Given the description of an element on the screen output the (x, y) to click on. 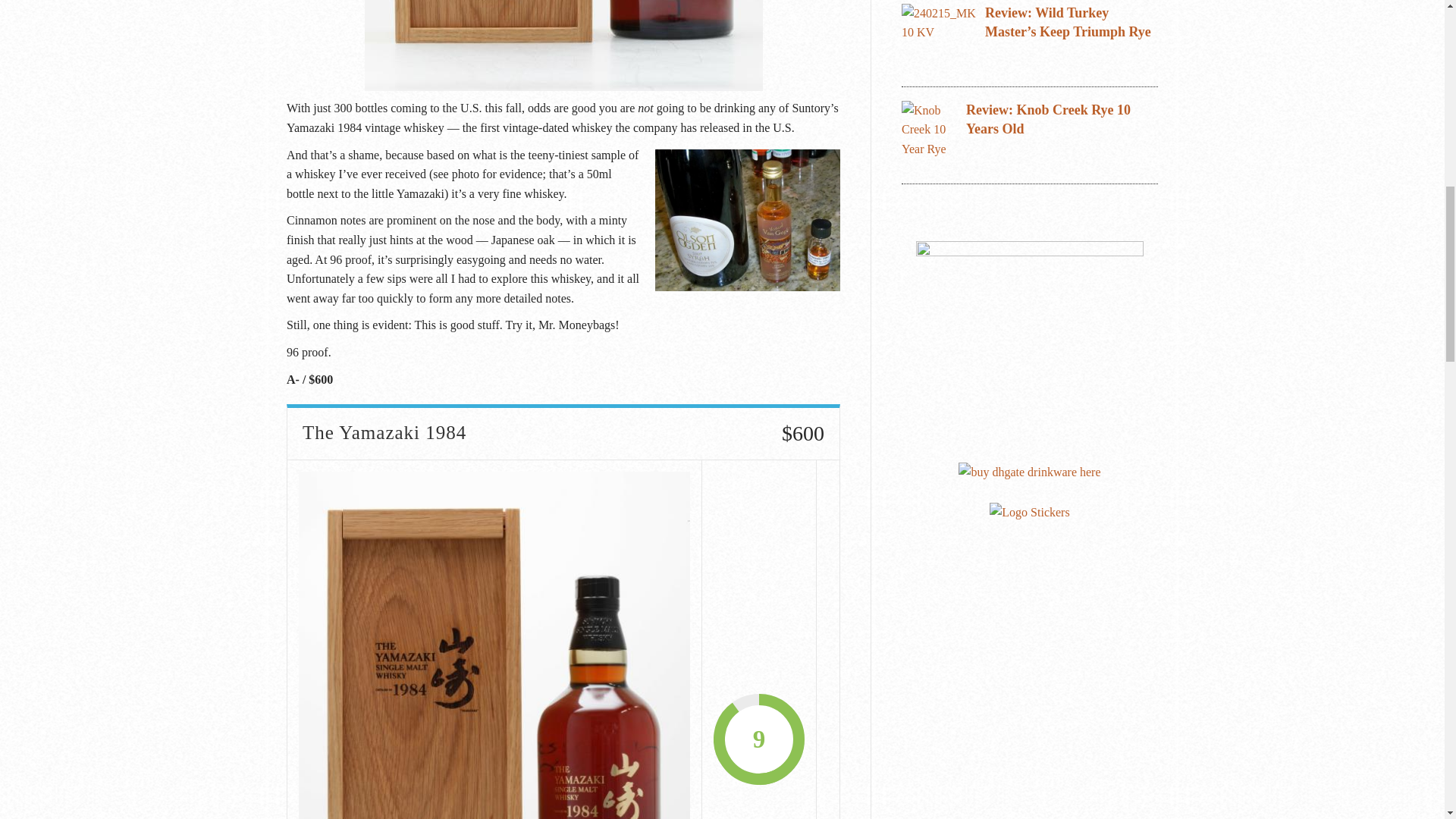
tiny yamazaki (747, 220)
yamazaki 1984 whiskey (562, 45)
